Given the description of an element on the screen output the (x, y) to click on. 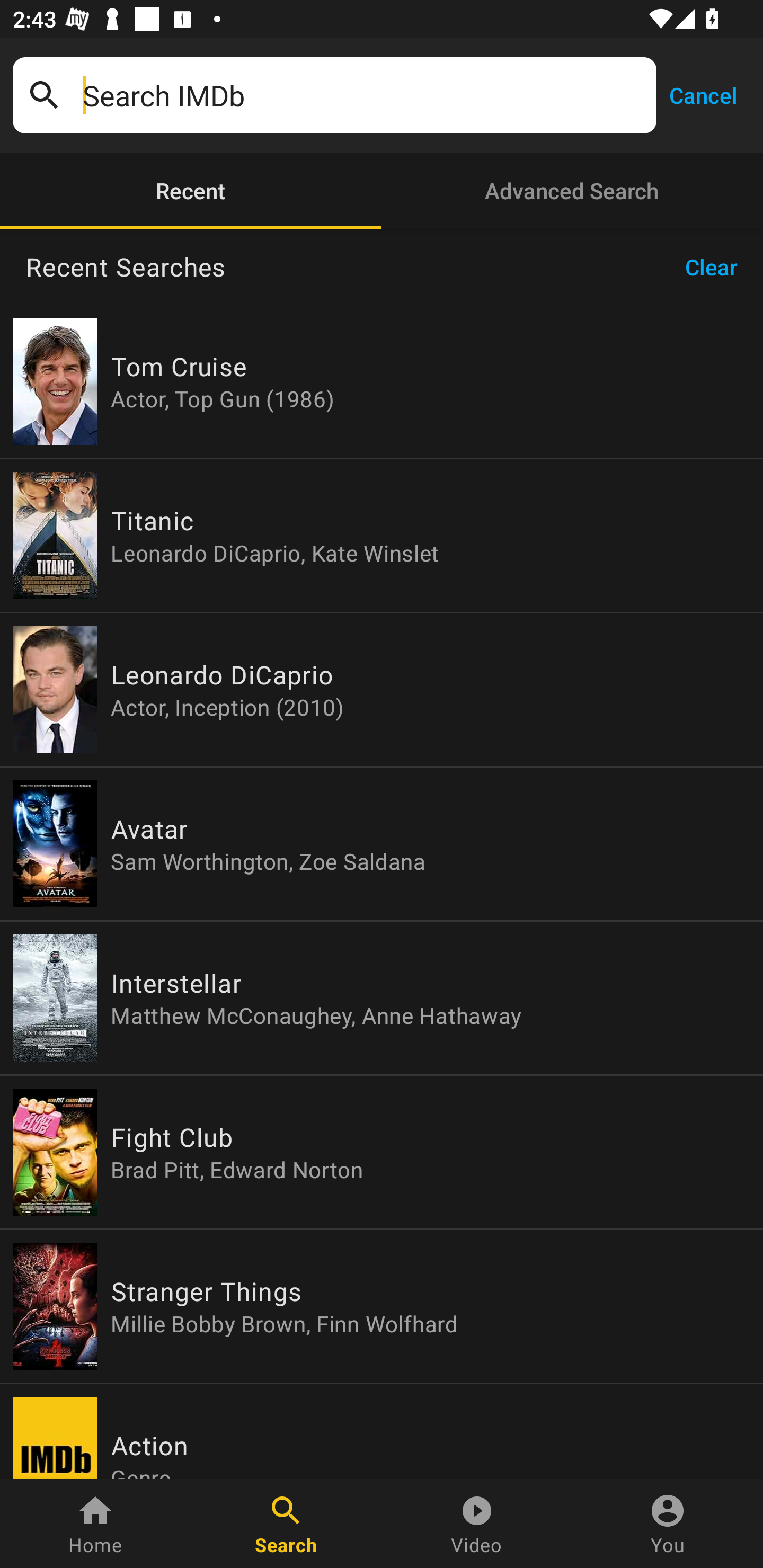
Cancel (703, 94)
Search IMDb (363, 95)
Advanced Search (572, 190)
Clear (717, 266)
Tom Cruise Actor, Top Gun (1986) (381, 381)
Titanic Leonardo DiCaprio, Kate Winslet (381, 535)
Leonardo DiCaprio Actor, Inception (2010) (381, 689)
Avatar Sam Worthington, Zoe Saldana (381, 844)
Interstellar Matthew McConaughey, Anne Hathaway (381, 997)
Fight Club Brad Pitt, Edward Norton (381, 1151)
Stranger Things Millie Bobby Brown, Finn Wolfhard (381, 1305)
Action Genre (381, 1431)
Home (95, 1523)
Video (476, 1523)
You (667, 1523)
